Given the description of an element on the screen output the (x, y) to click on. 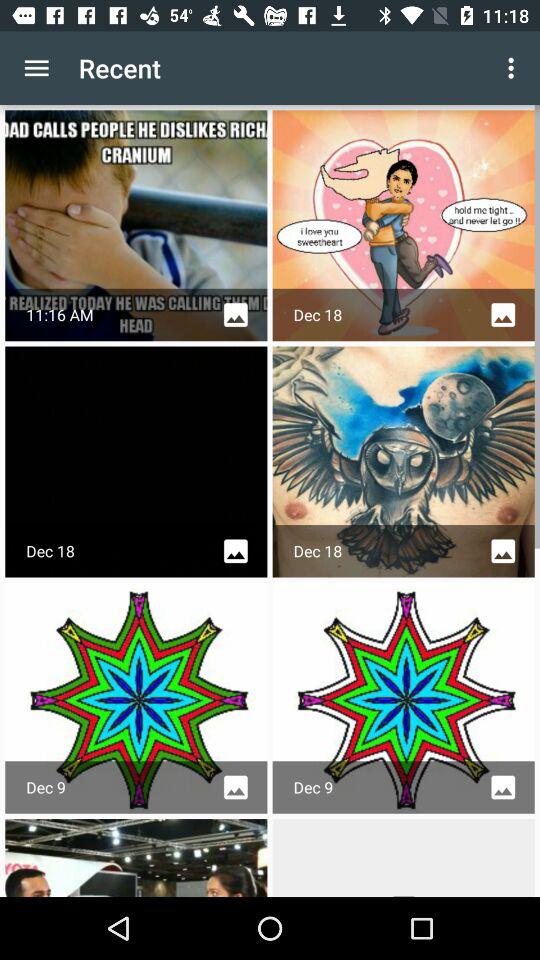
select app next to the recent app (36, 68)
